Given the description of an element on the screen output the (x, y) to click on. 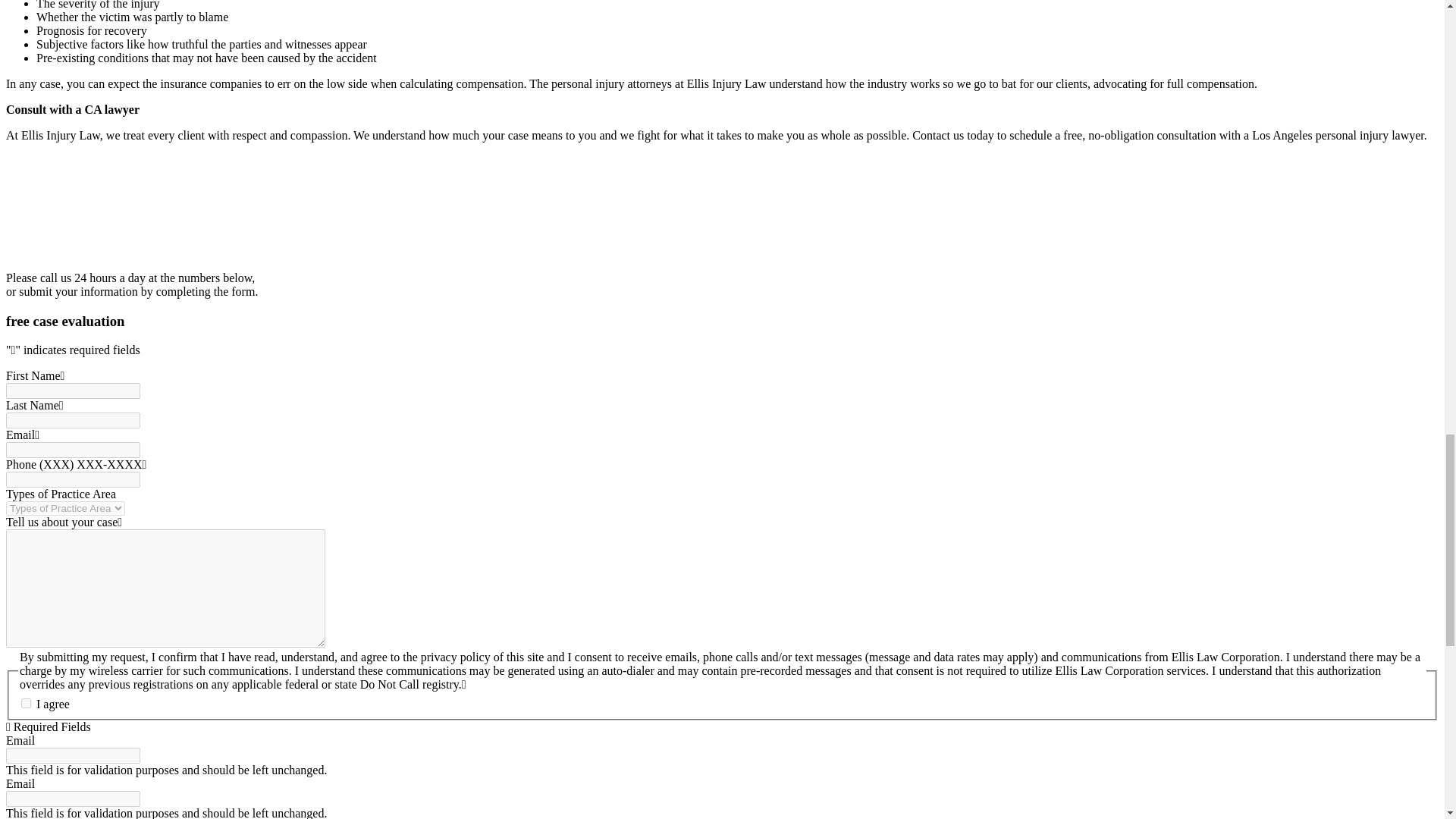
I agree (25, 703)
